Given the description of an element on the screen output the (x, y) to click on. 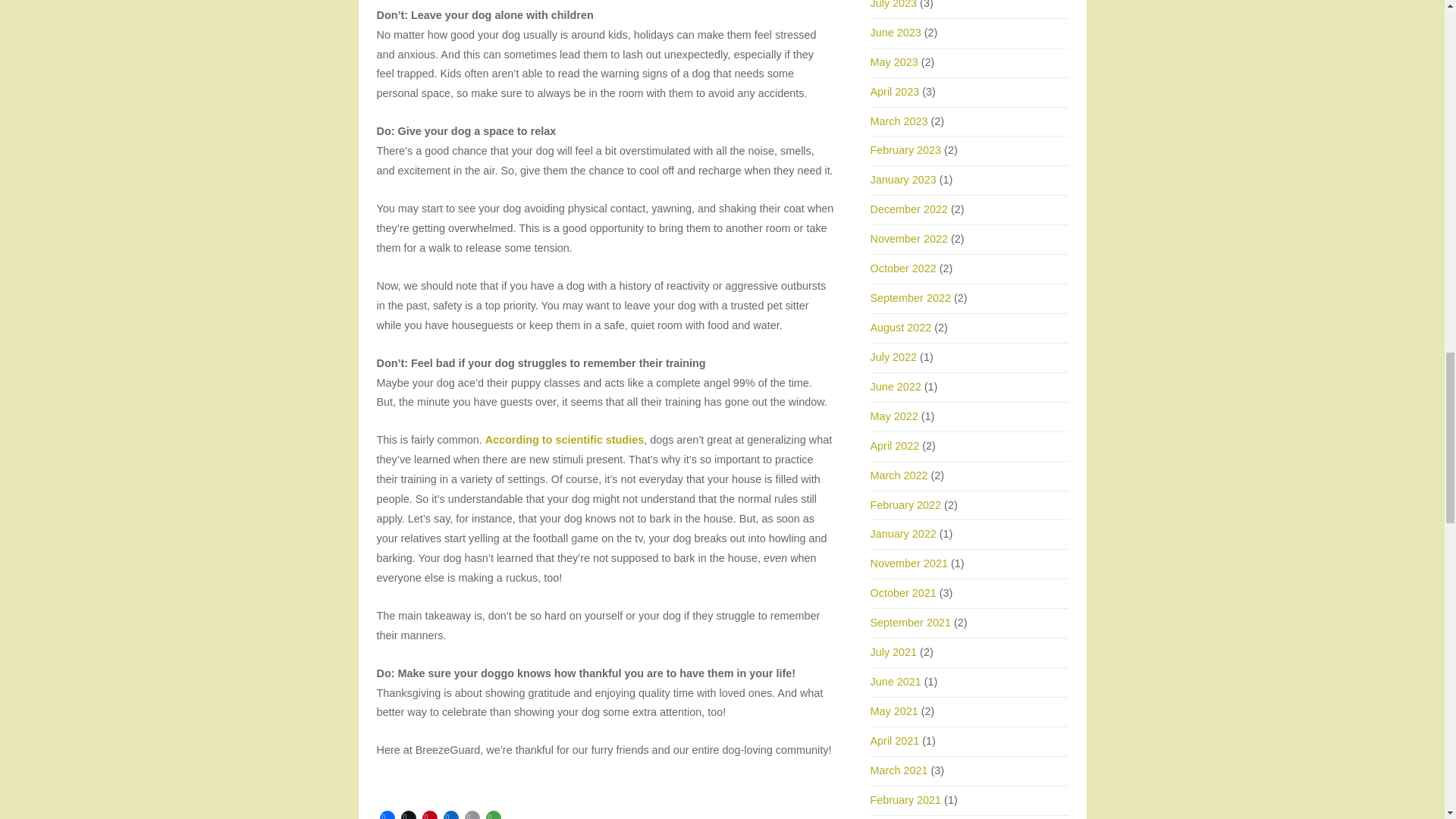
According to scientific studies (564, 439)
Facebook (386, 813)
Pinterest (429, 813)
LinkedIn (450, 813)
More Options (492, 813)
Email This (471, 813)
